Given the description of an element on the screen output the (x, y) to click on. 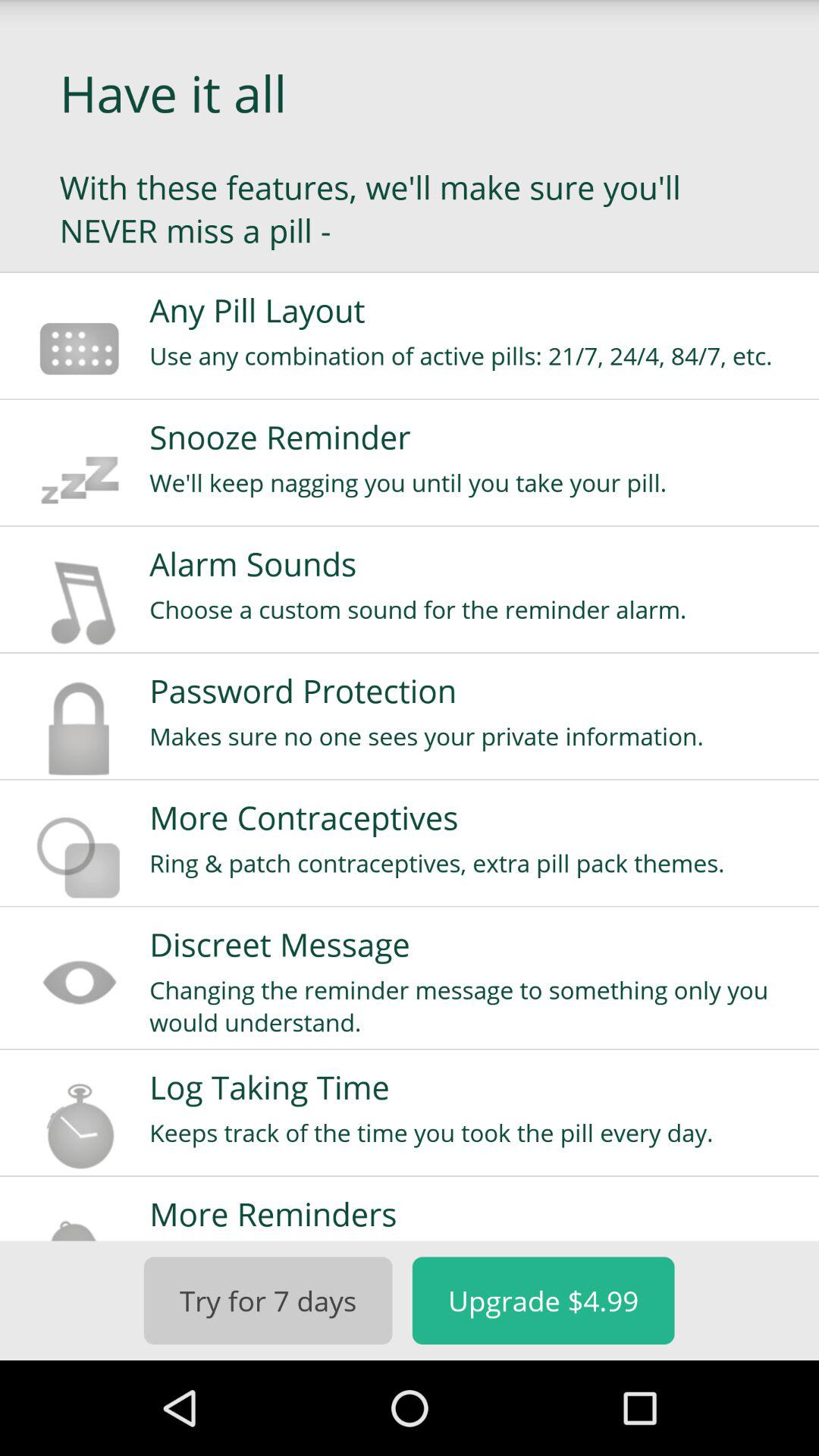
click on music symbol next to alarm sounds (79, 602)
click on the icon next to more reminders (79, 1221)
